Given the description of an element on the screen output the (x, y) to click on. 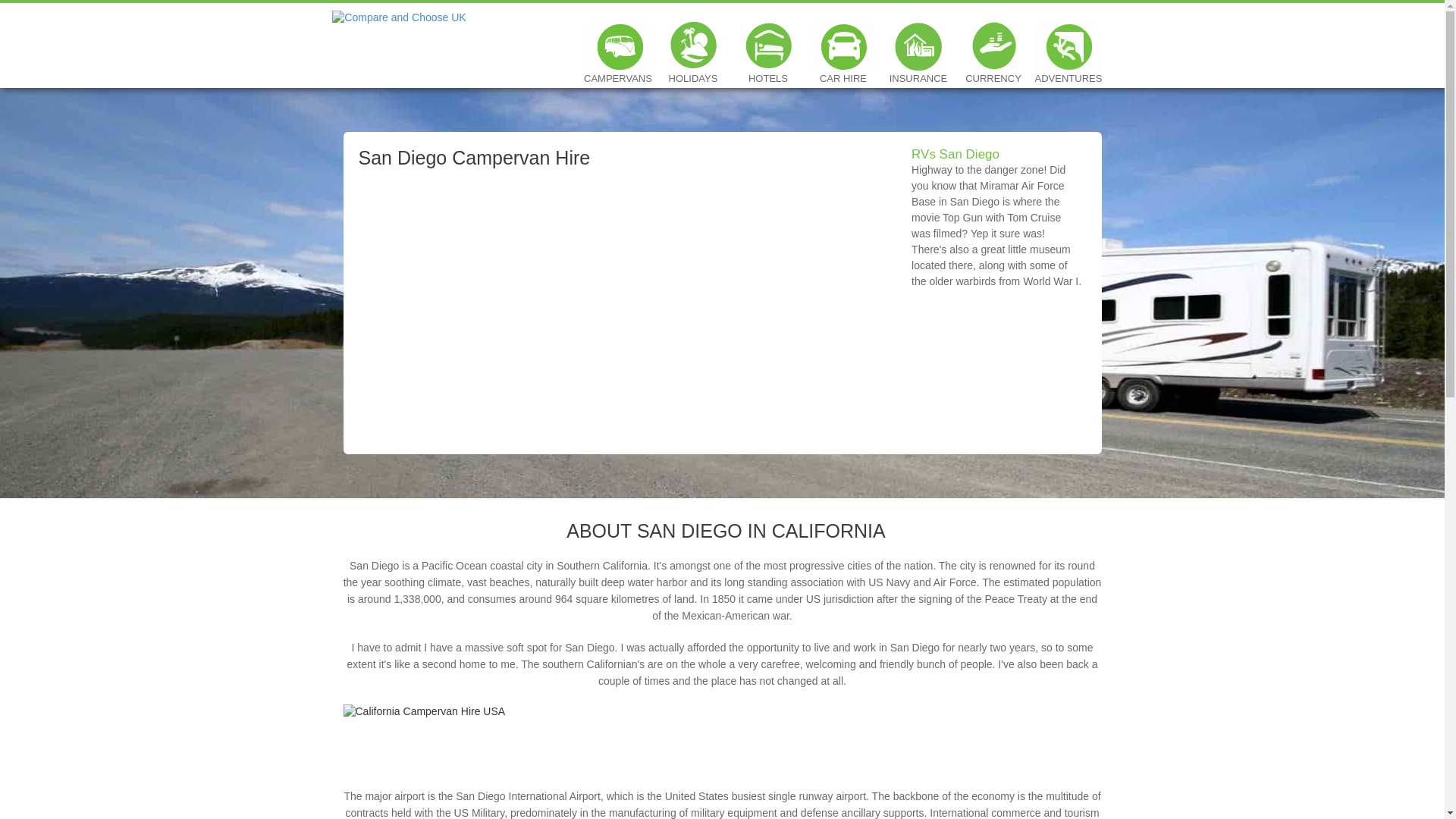
HOTELS (767, 46)
CURRENCY (992, 46)
ADVENTURES (1067, 46)
HOLIDAYS (692, 46)
INSURANCE (917, 46)
CAMPERVANS (617, 46)
CAR HIRE (842, 46)
